Given the description of an element on the screen output the (x, y) to click on. 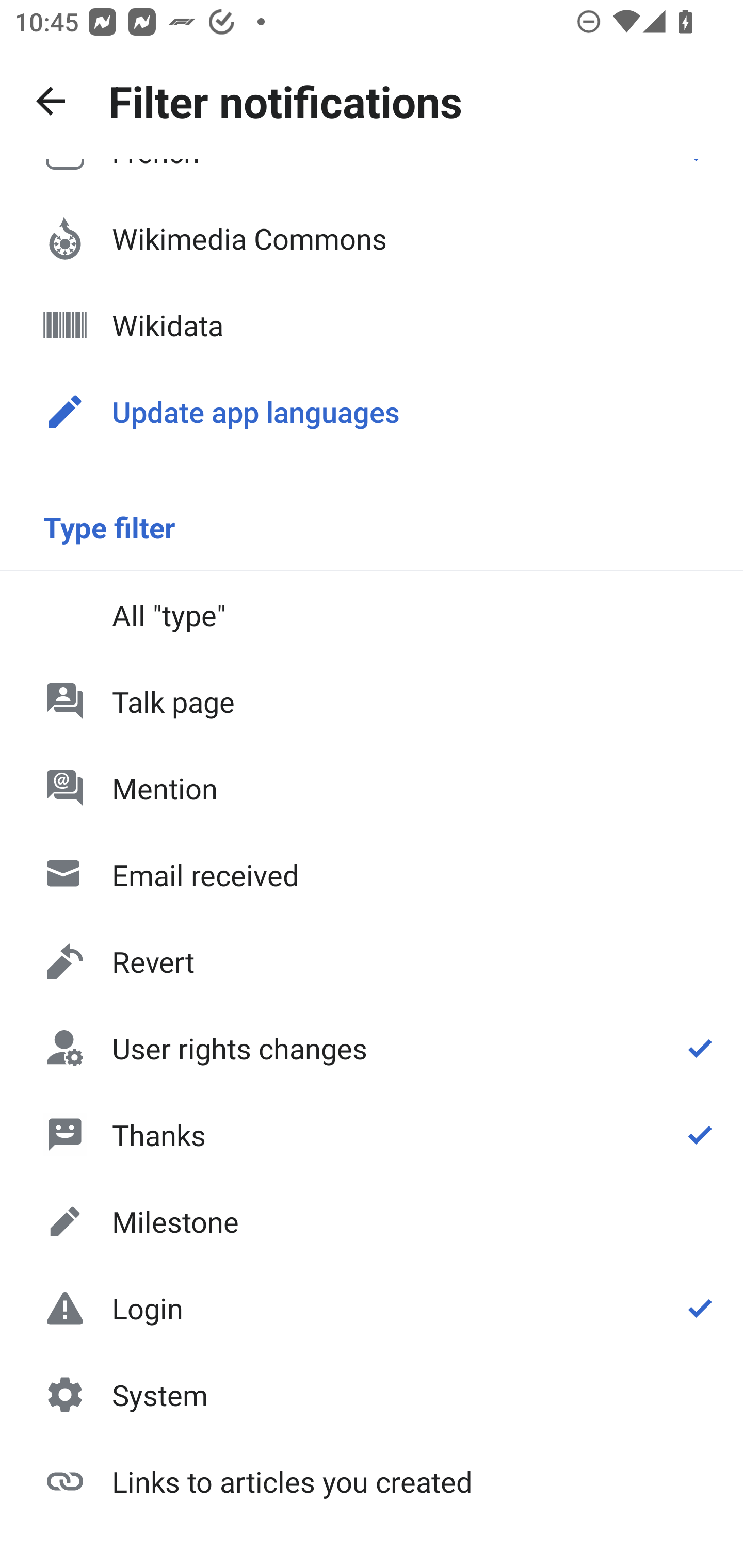
Navigate up (50, 101)
Wikimedia Commons (371, 238)
Wikidata (371, 325)
Update app languages (371, 411)
All "type" (371, 614)
Talk page (371, 701)
Mention (371, 787)
Email received (371, 874)
Revert (371, 961)
User rights changes (371, 1048)
Thanks (371, 1134)
Milestone (371, 1221)
Login (371, 1308)
System (371, 1394)
Links to articles you created (371, 1480)
